Given the description of an element on the screen output the (x, y) to click on. 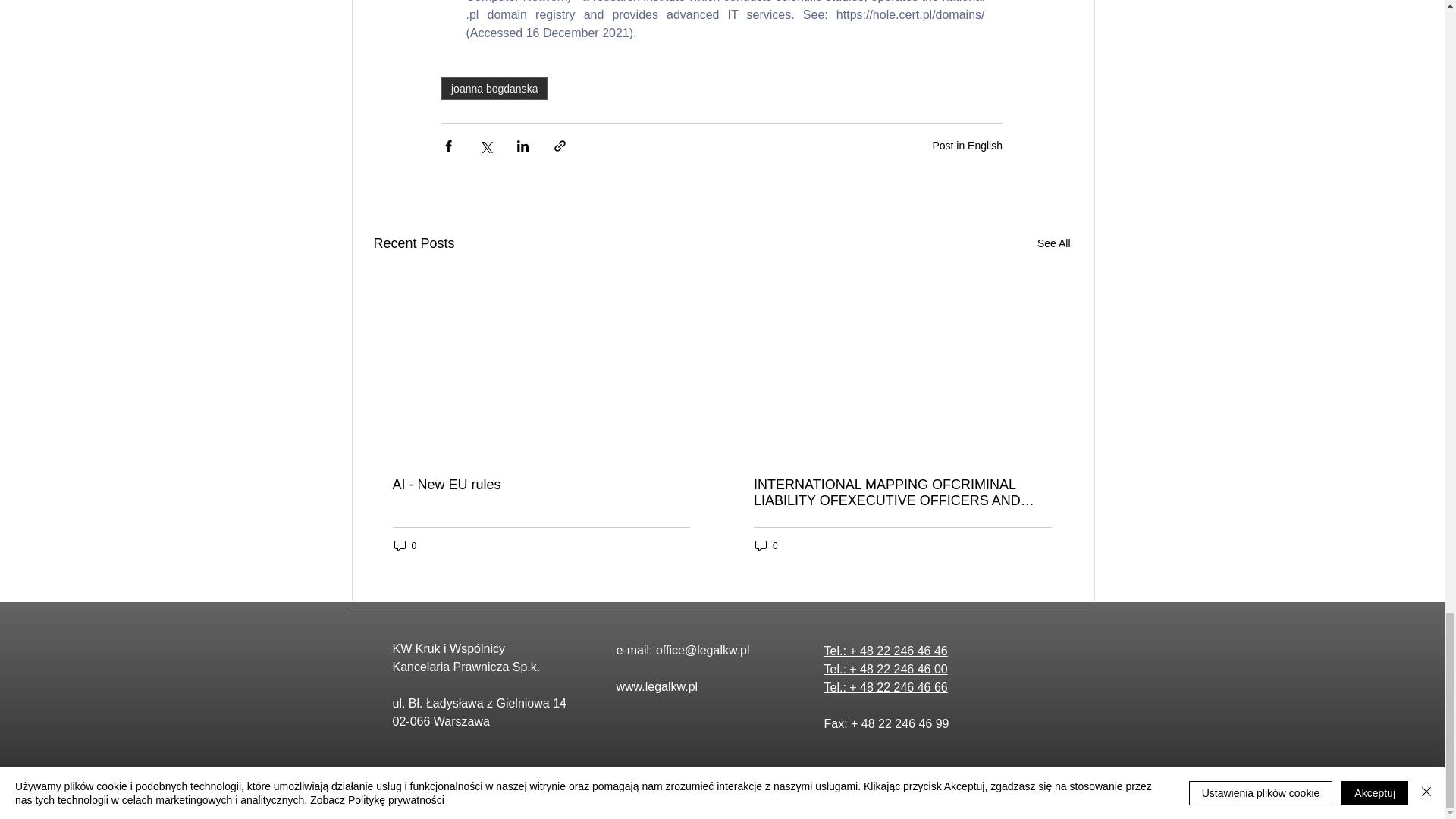
www.legalkw.pl (656, 686)
AI - New EU rules (541, 484)
See All (1053, 243)
joanna bogdanska (494, 87)
0 (406, 545)
0 (766, 545)
Post in English (967, 145)
